Given the description of an element on the screen output the (x, y) to click on. 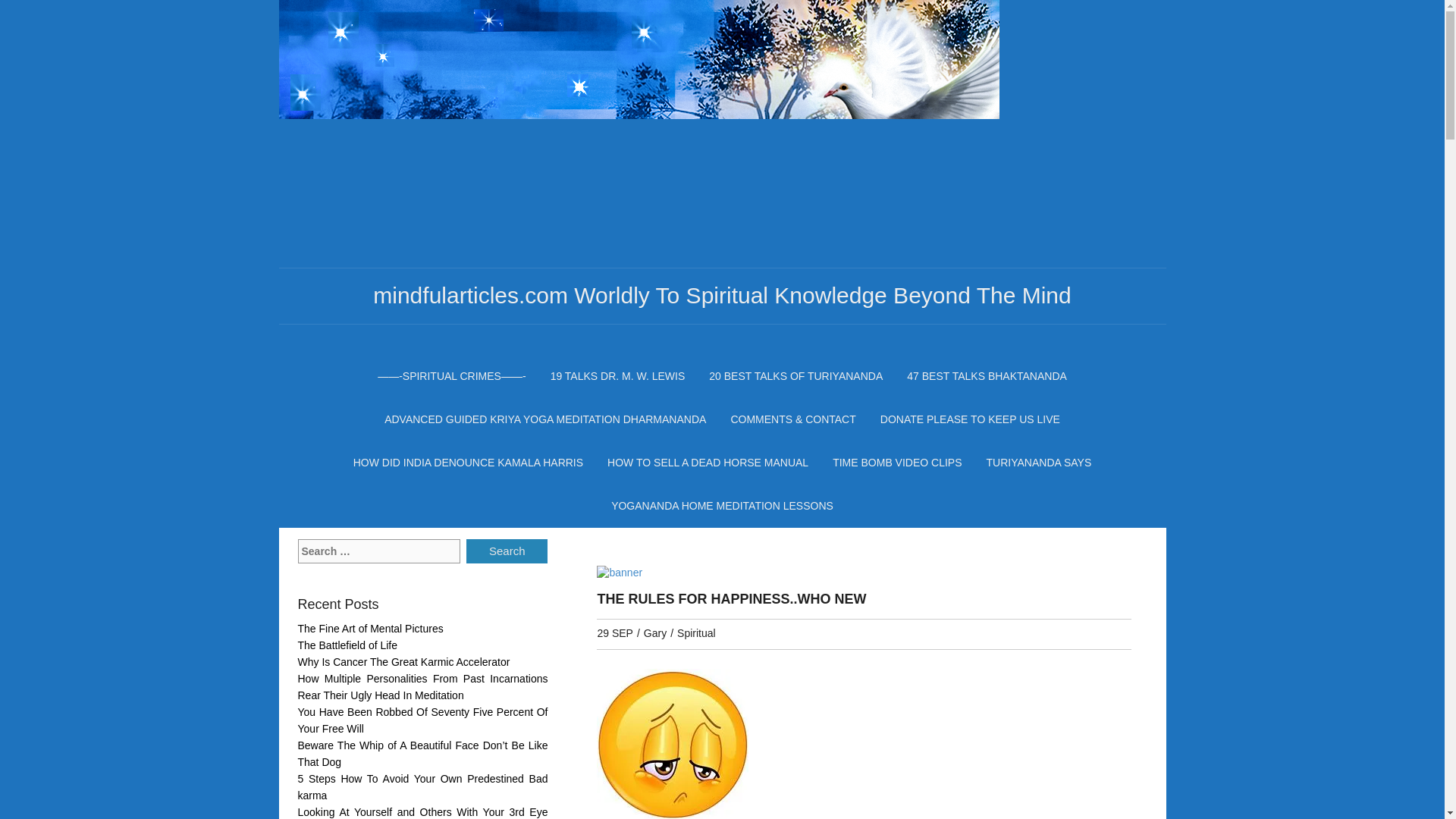
TIME BOMB VIDEO CLIPS (897, 461)
Why Is Cancer The Great Karmic Accelerator (403, 662)
The Fine Art of Mental Pictures (369, 628)
HOW DID INDIA DENOUNCE KAMALA HARRIS (467, 461)
47 BEST TALKS BHAKTANANDA (986, 374)
YOGANANDA HOME MEDITATION LESSONS (721, 504)
HOW TO SELL A DEAD HORSE MANUAL (708, 461)
